Given the description of an element on the screen output the (x, y) to click on. 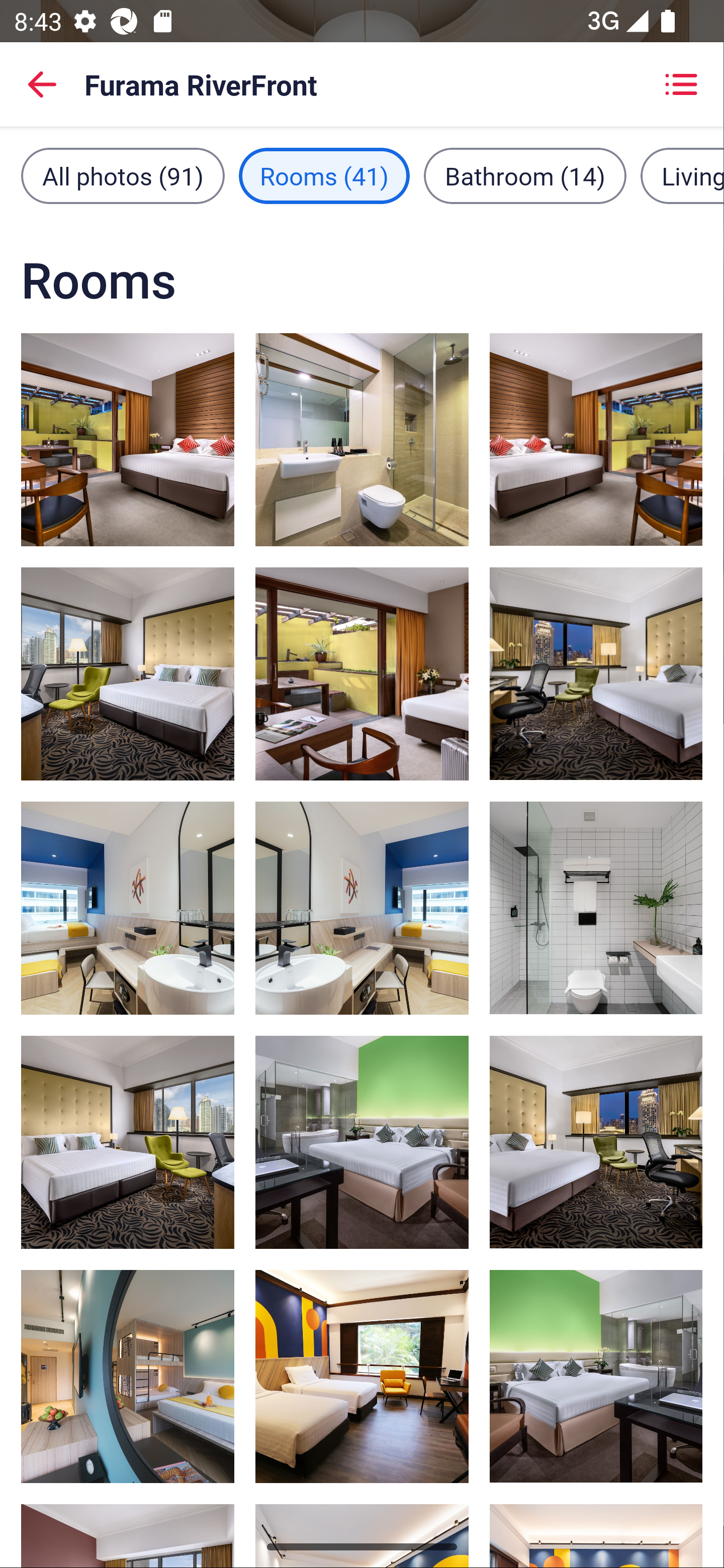
Back (42, 84)
Showing grid view (681, 84)
All photos filter, 91 images (122, 175)
Rooms filter, 41 images (323, 175)
Bathroom filter, 14 images (524, 175)
Living area filter, 3 images (681, 175)
Executive Suite | View from room, image (127, 1142)
Deluxe Room | City view, image (595, 1142)
Deluxe Tropical Room | View from room, image (361, 1376)
